Given the description of an element on the screen output the (x, y) to click on. 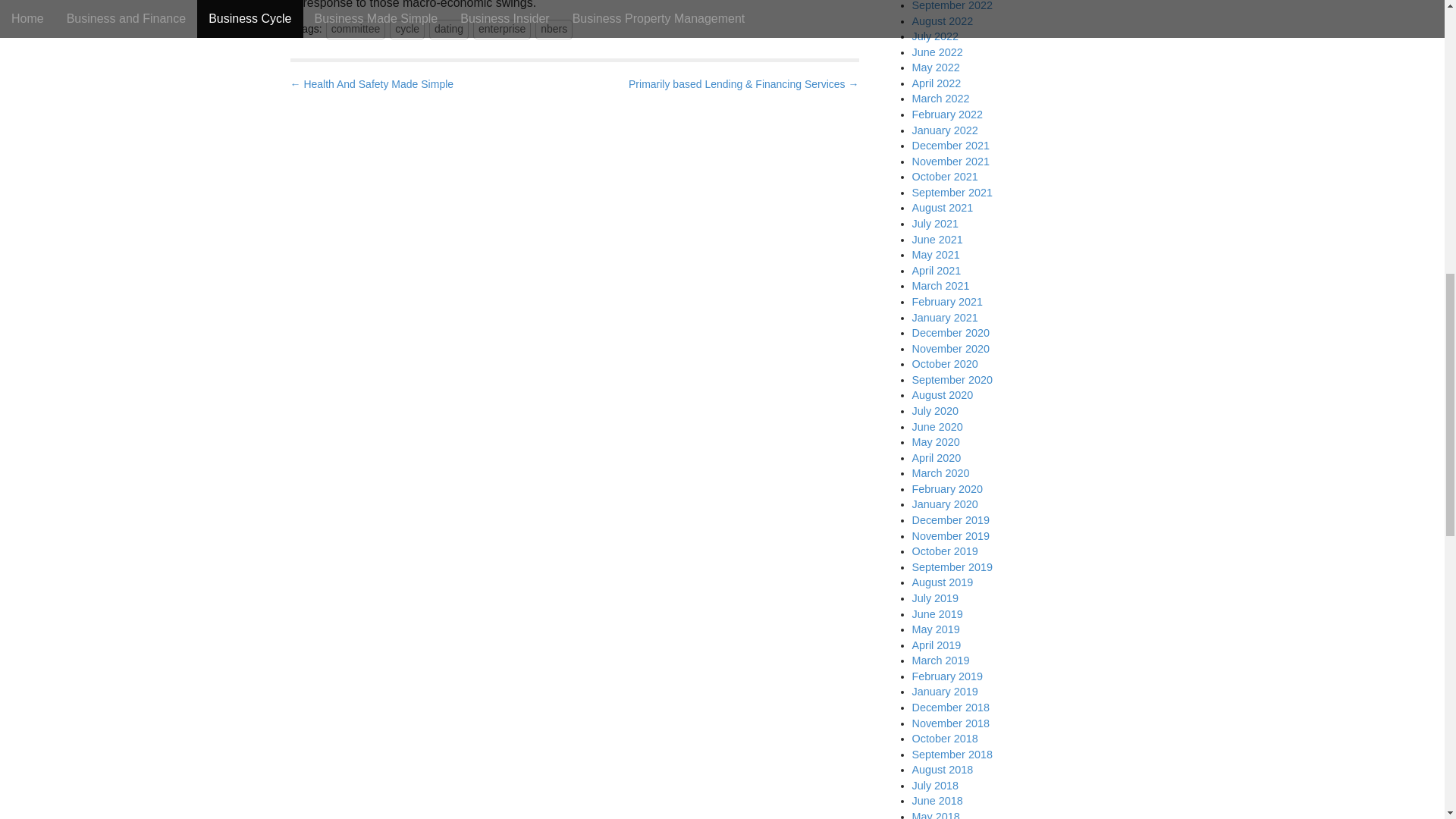
cycle (407, 29)
nbers (553, 29)
dating (448, 29)
enterprise (502, 29)
committee (355, 29)
